Given the description of an element on the screen output the (x, y) to click on. 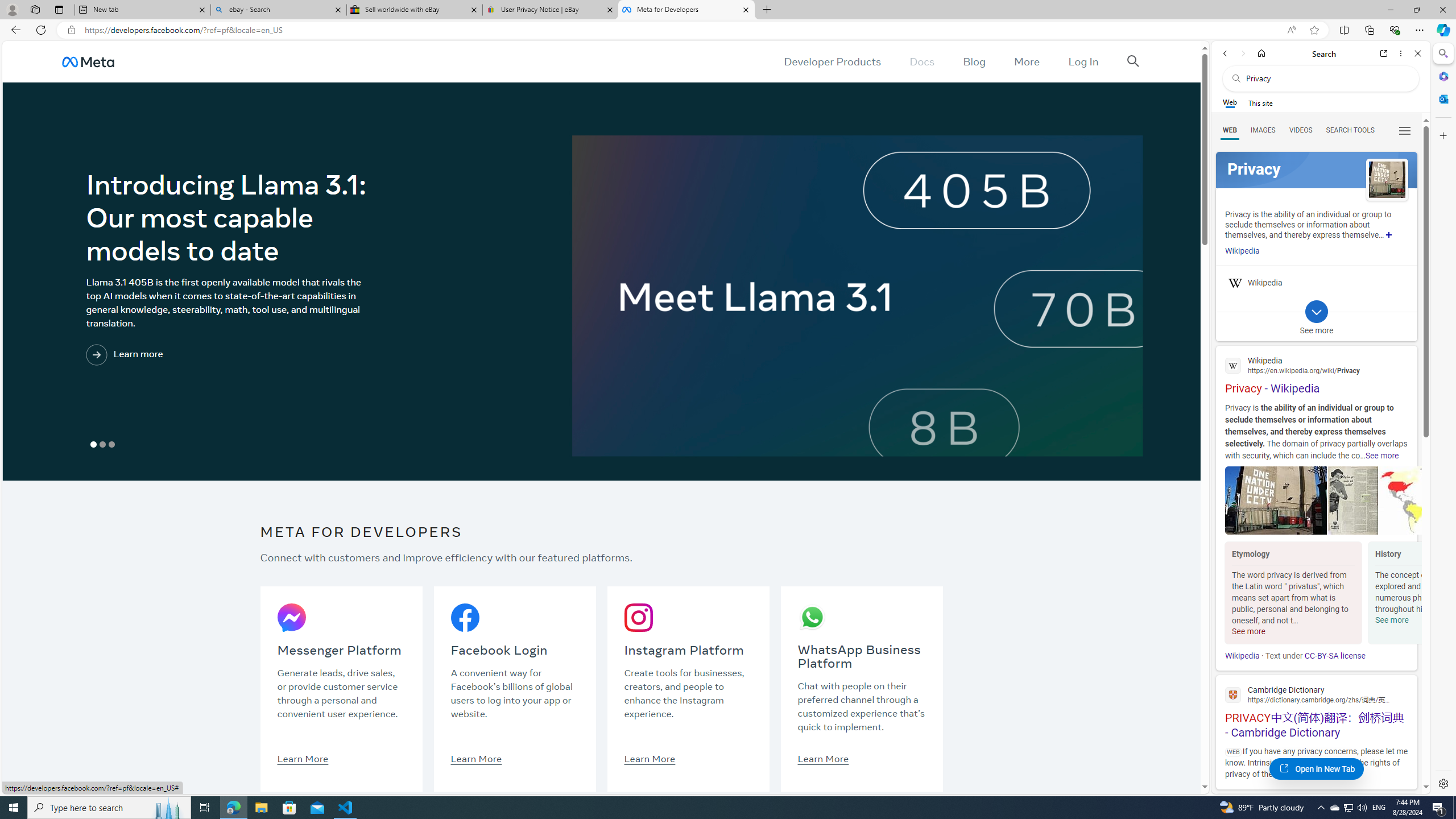
Search the web (1326, 78)
Blog (974, 61)
See more images of Privacy (1386, 180)
Docs (922, 61)
Search Filter, VIDEOS (1300, 129)
Show Slide 1 (93, 444)
Learn More (822, 758)
Developer Products (832, 61)
